Given the description of an element on the screen output the (x, y) to click on. 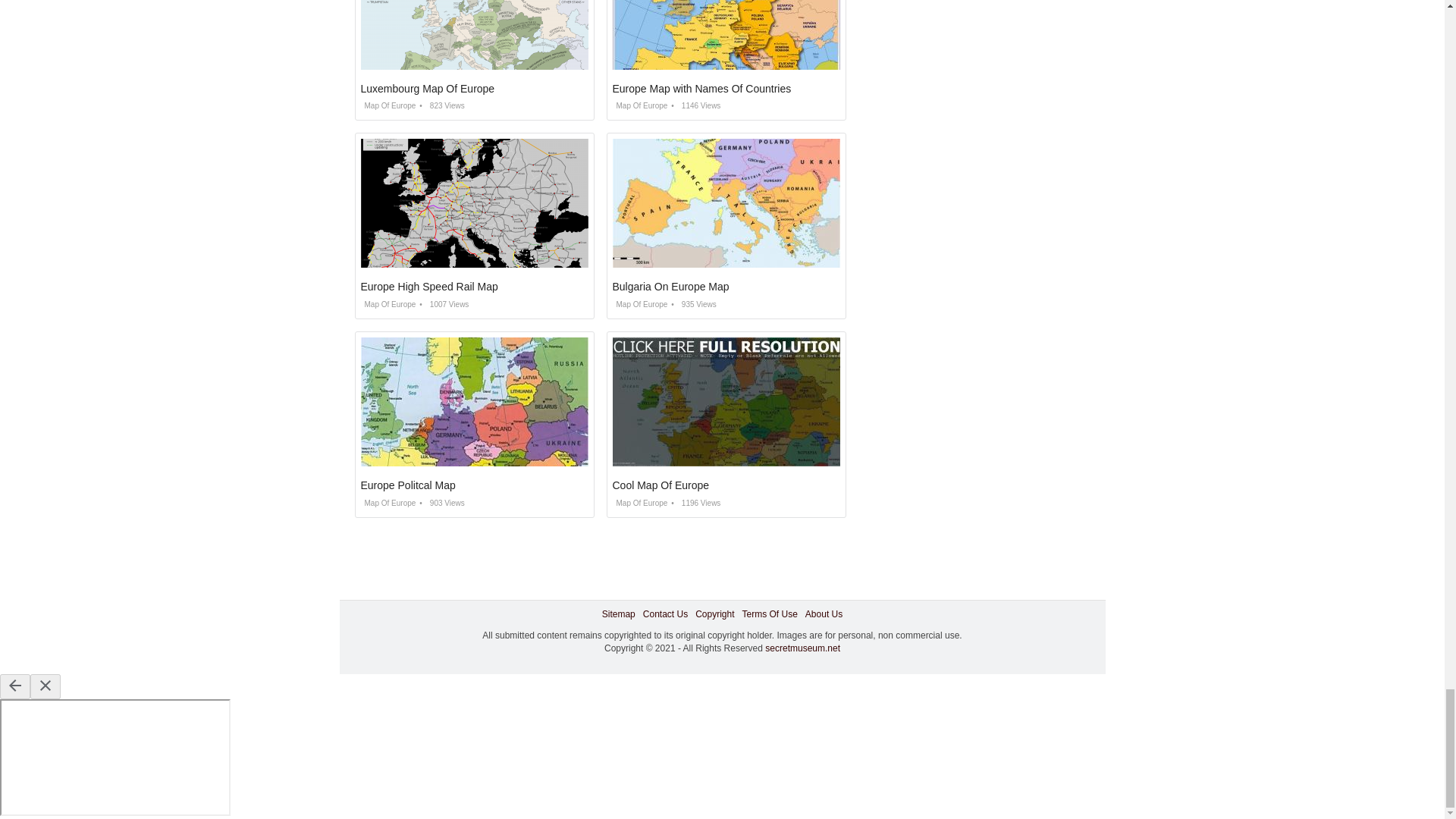
Europe High Speed Rail Map (429, 286)
Map Of Europe (640, 304)
Luxembourg Map Of Europe (428, 88)
Europe Map with Names Of Countries (702, 88)
Map Of Europe (640, 105)
Map Of Europe (388, 304)
Bulgaria On Europe Map (670, 286)
Europe Politcal Map (408, 485)
Map Of Europe (388, 502)
Map Of Europe (388, 105)
